Given the description of an element on the screen output the (x, y) to click on. 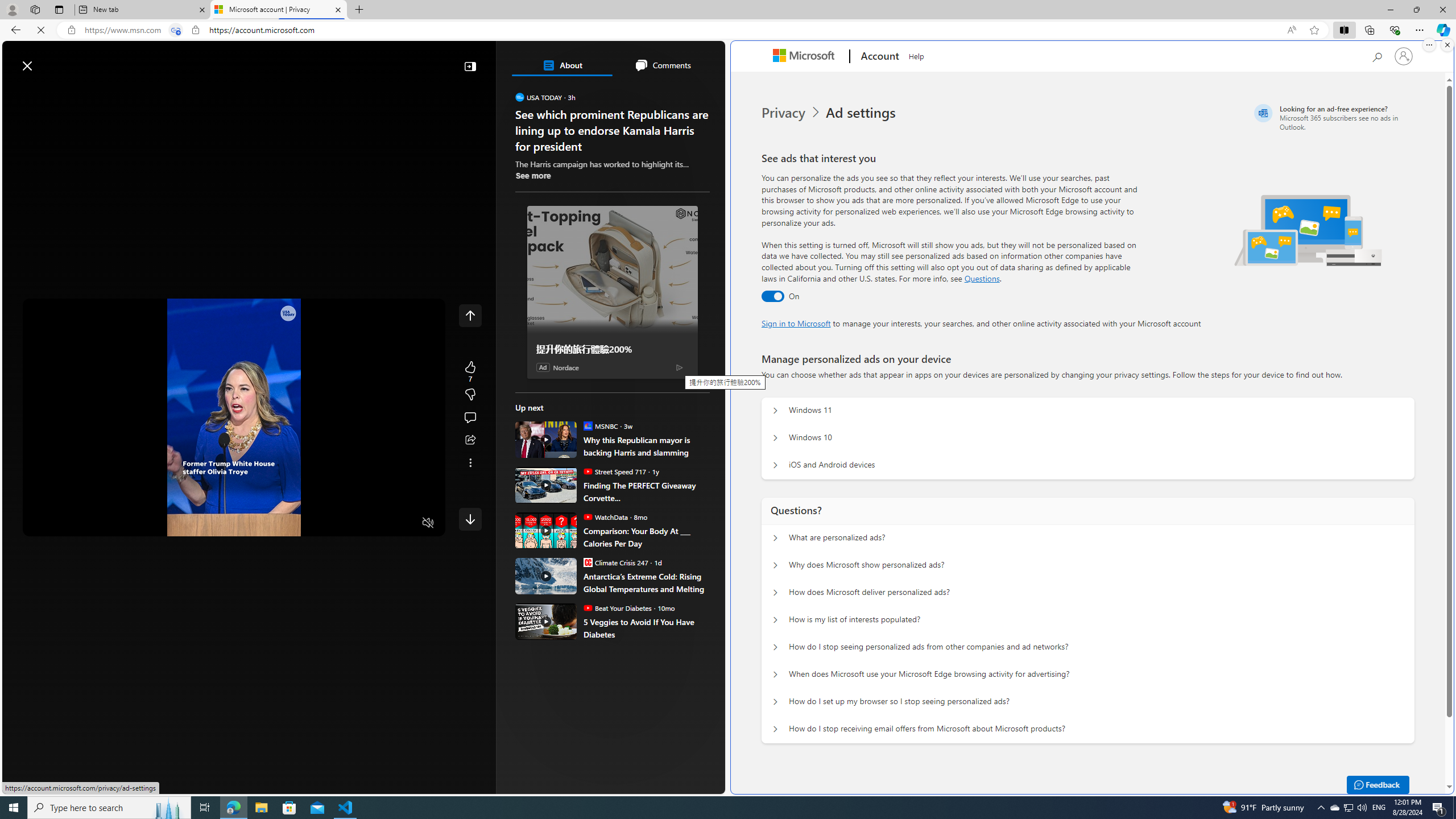
Comments (662, 64)
Climate Crisis 247 Climate Crisis 247 (614, 561)
The Associated Press (554, 366)
